Given the description of an element on the screen output the (x, y) to click on. 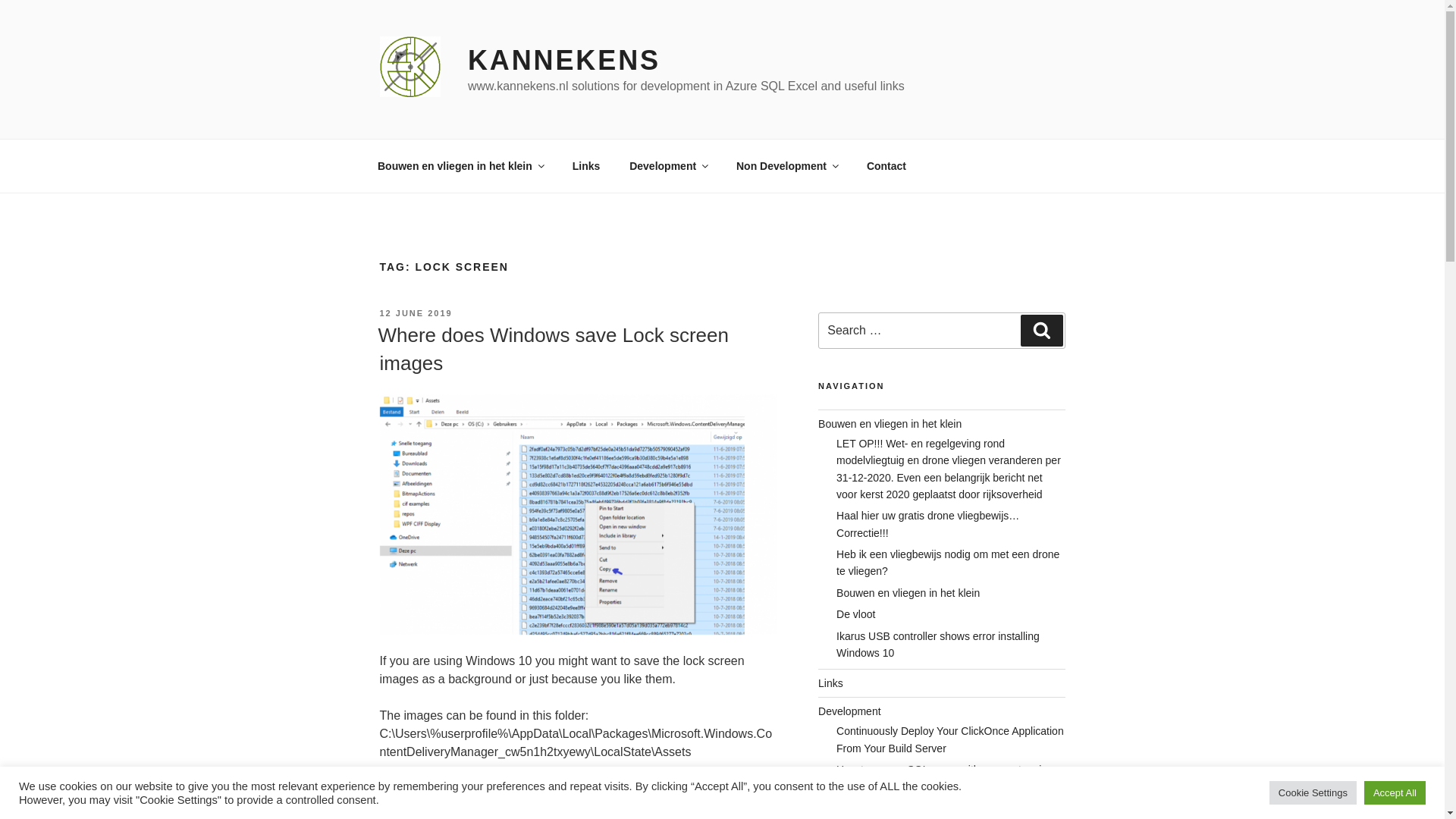
Non Development (786, 165)
Search (1041, 330)
Where does Windows save Lock screen images (552, 348)
12 JUNE 2019 (414, 312)
Development (667, 165)
Contact (885, 165)
KANNEKENS (564, 60)
Links (585, 165)
Bouwen en vliegen in het klein (460, 165)
